Given the description of an element on the screen output the (x, y) to click on. 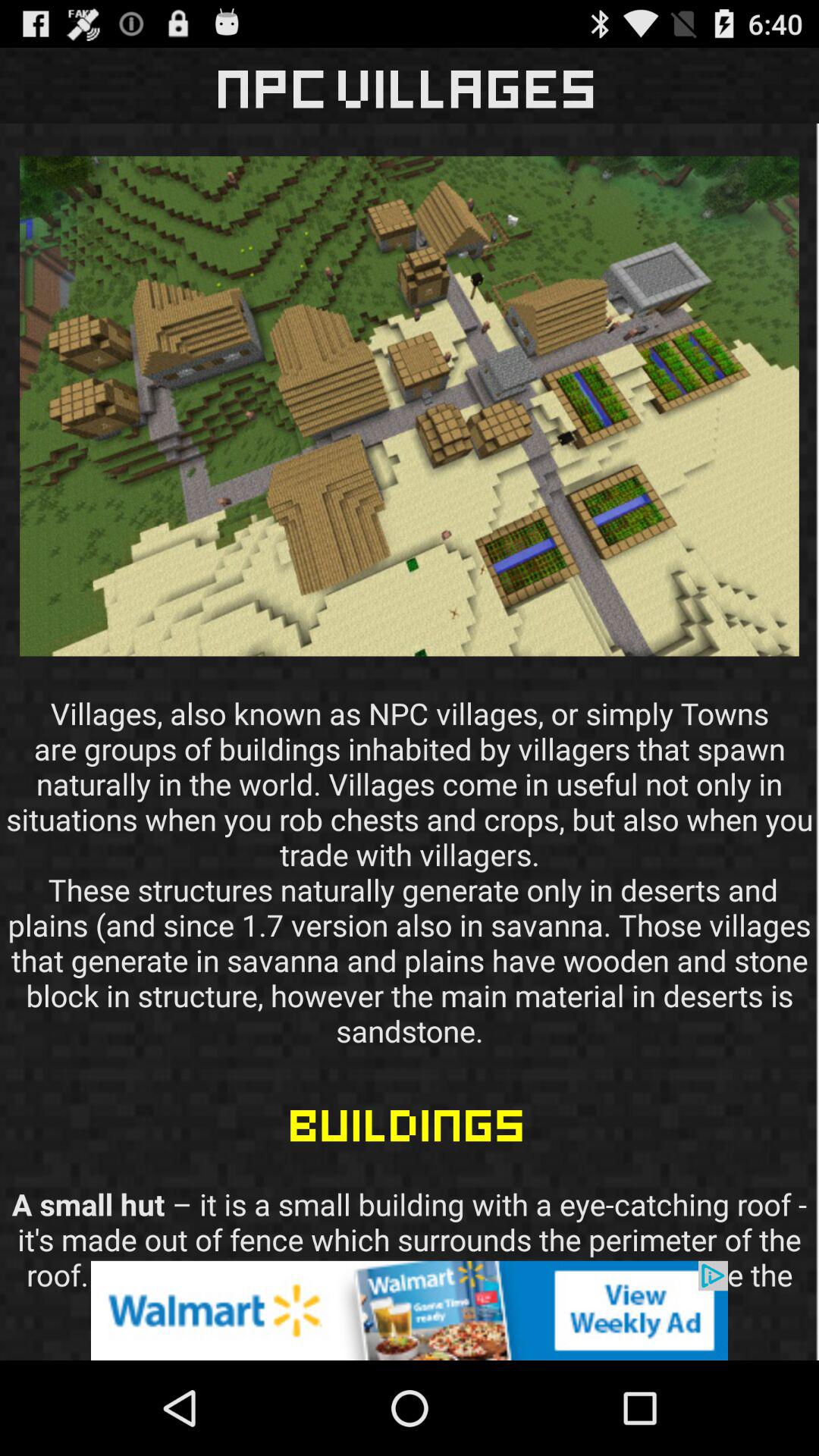
unrelated walmart advertisement (409, 1310)
